Given the description of an element on the screen output the (x, y) to click on. 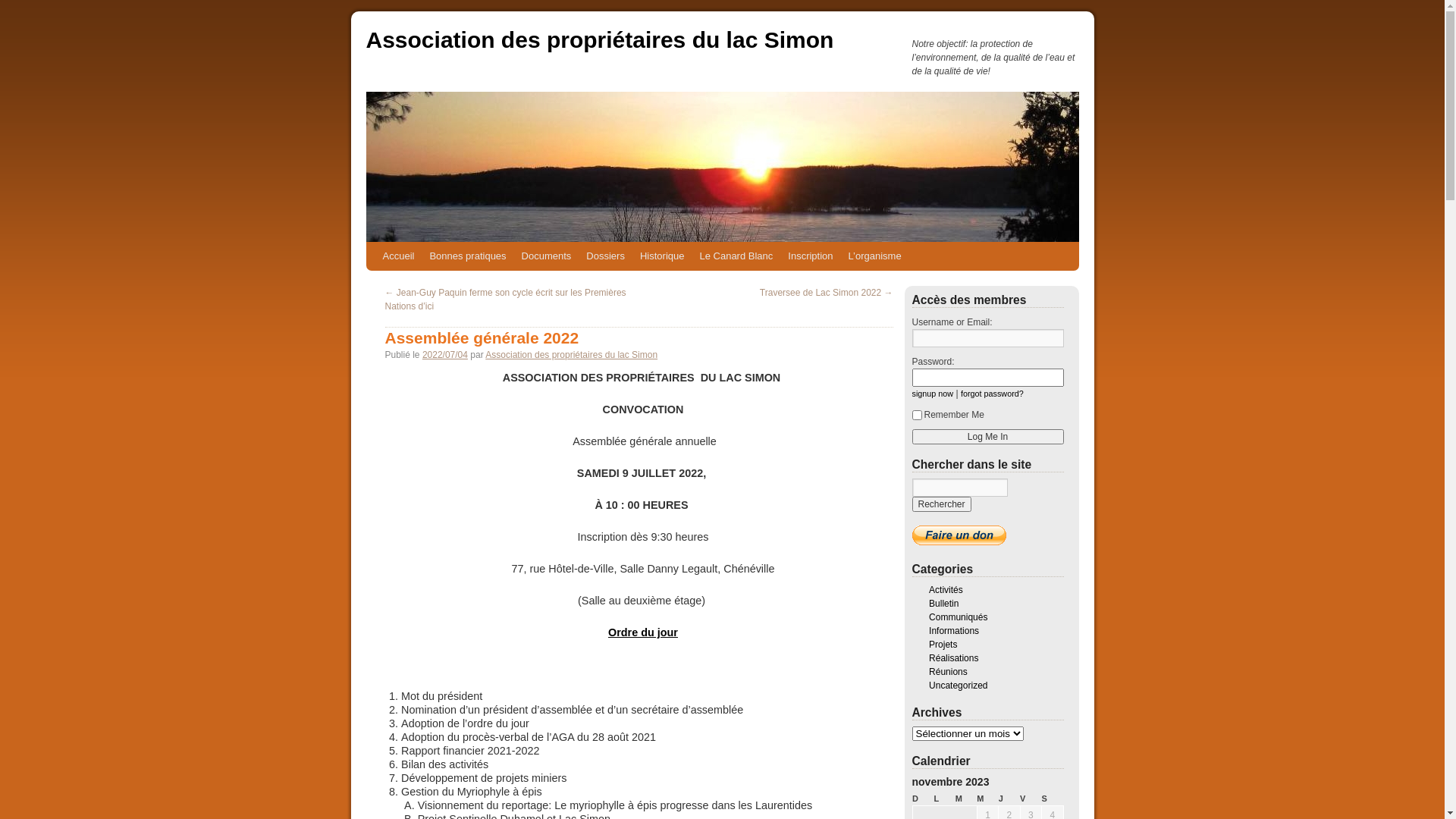
2022/07/04 Element type: text (444, 354)
Informations Element type: text (953, 630)
Projets Element type: text (942, 644)
Username Element type: hover (987, 338)
Bulletin Element type: text (943, 603)
Documents Element type: text (546, 255)
Accueil Element type: text (397, 255)
forgot password? Element type: text (991, 393)
Historique Element type: text (662, 255)
Rechercher Element type: text (940, 503)
Password Element type: hover (987, 377)
Le Canard Blanc Element type: text (735, 255)
Uncategorized Element type: text (957, 685)
Log Me In Element type: text (987, 436)
Inscription Element type: text (810, 255)
Dossiers Element type: text (605, 255)
Bonnes pratiques Element type: text (467, 255)
signup now Element type: text (932, 393)
Ordre du jour Element type: text (642, 632)
